Given the description of an element on the screen output the (x, y) to click on. 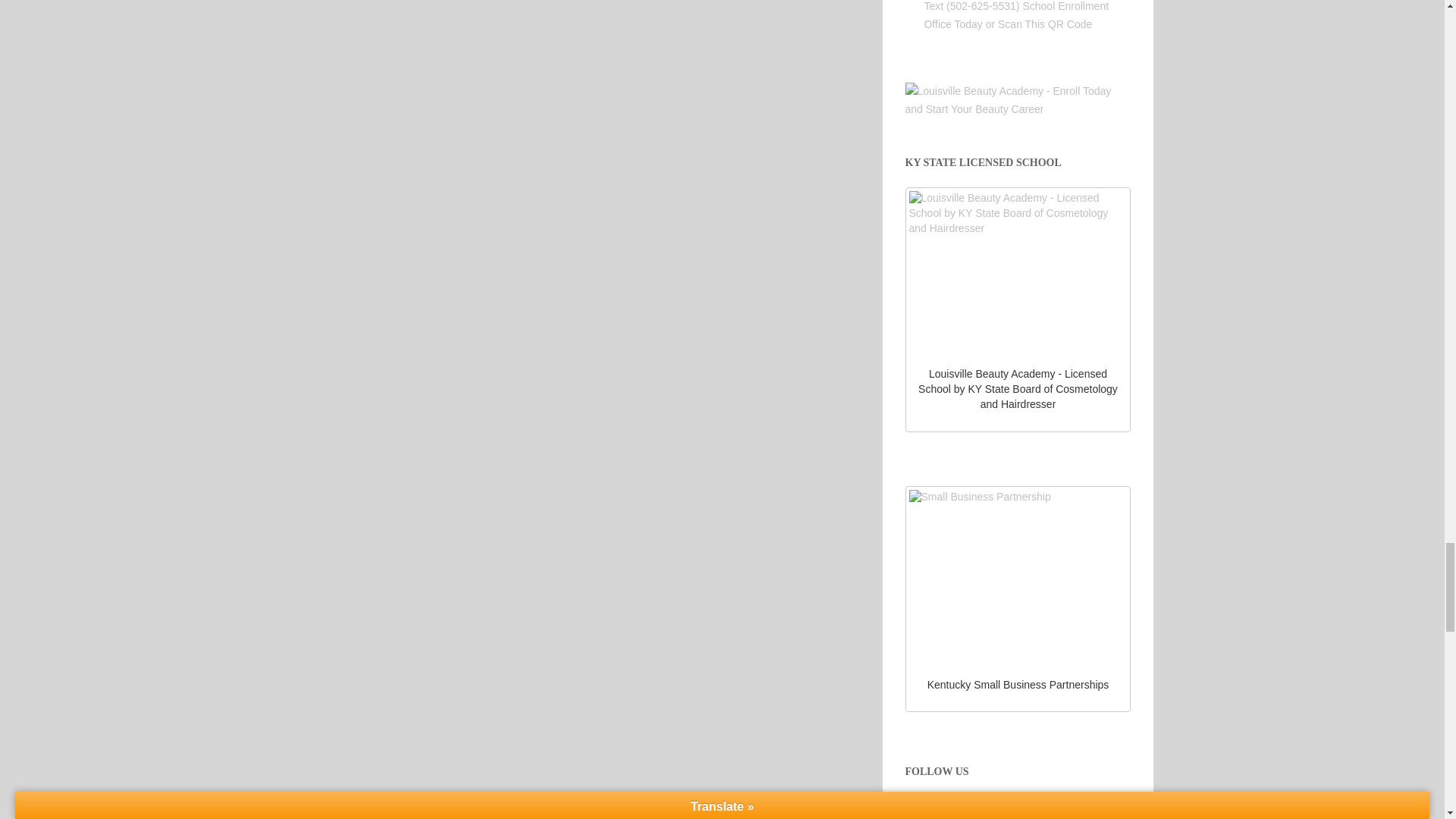
KY State Licensed School (1017, 271)
Visit Louisville Beauty Academy - Louisville KY on Facebook (1018, 811)
